Given the description of an element on the screen output the (x, y) to click on. 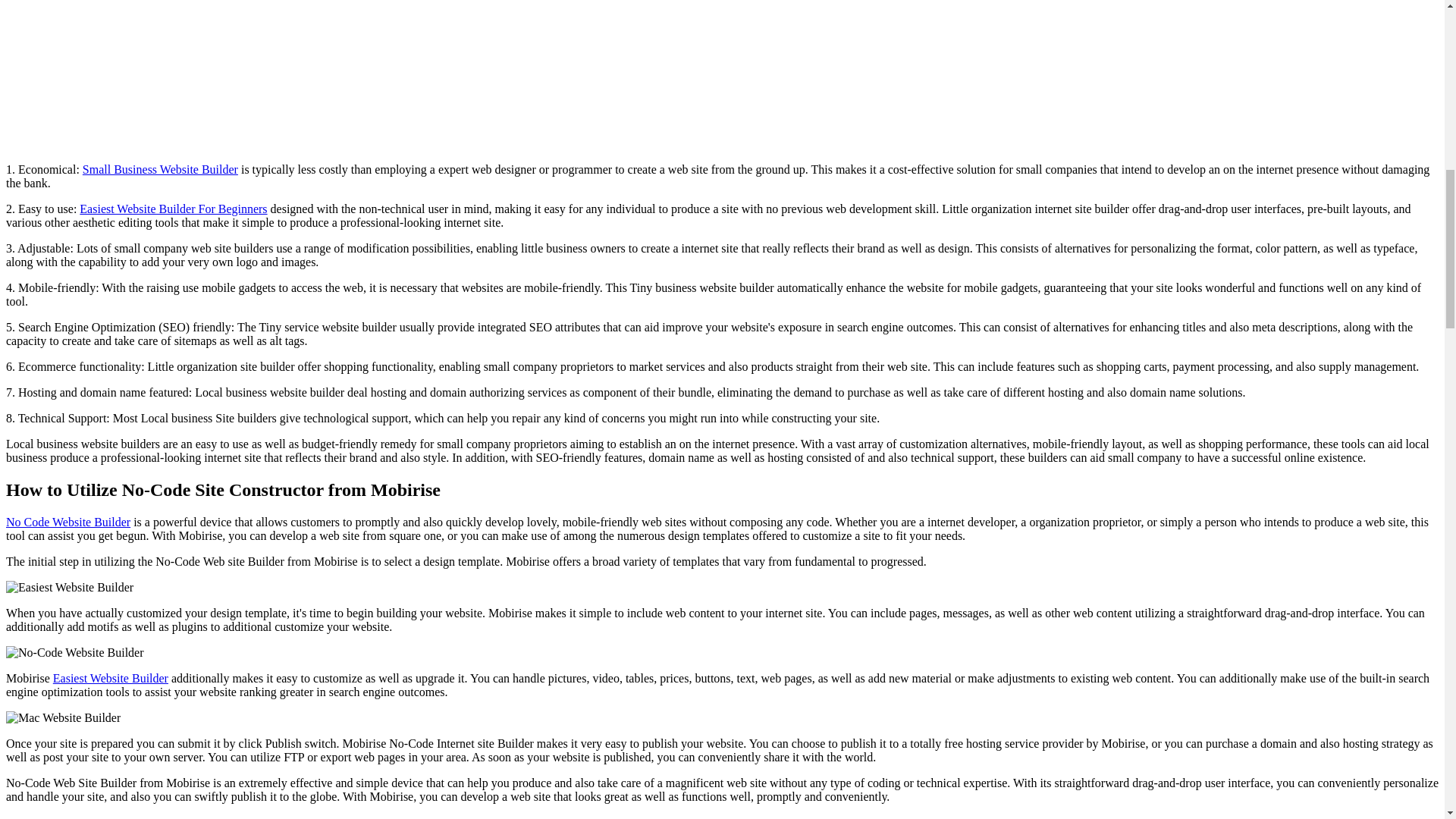
No Code Website Builder (68, 521)
Small Business Website Builder (160, 169)
Easiest Website Builder (110, 677)
Easiest Website Builder For Beginners (173, 208)
